Given the description of an element on the screen output the (x, y) to click on. 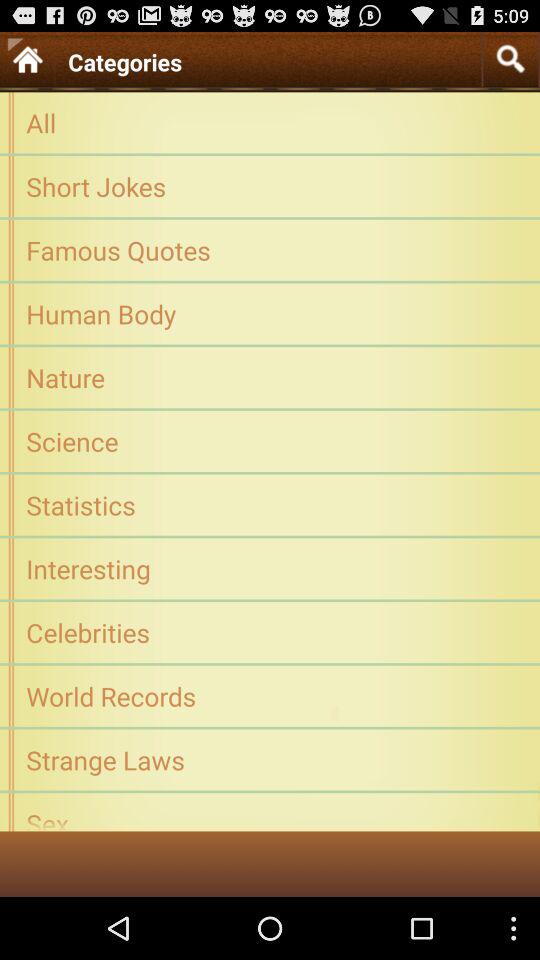
swipe to interesting app (270, 568)
